Given the description of an element on the screen output the (x, y) to click on. 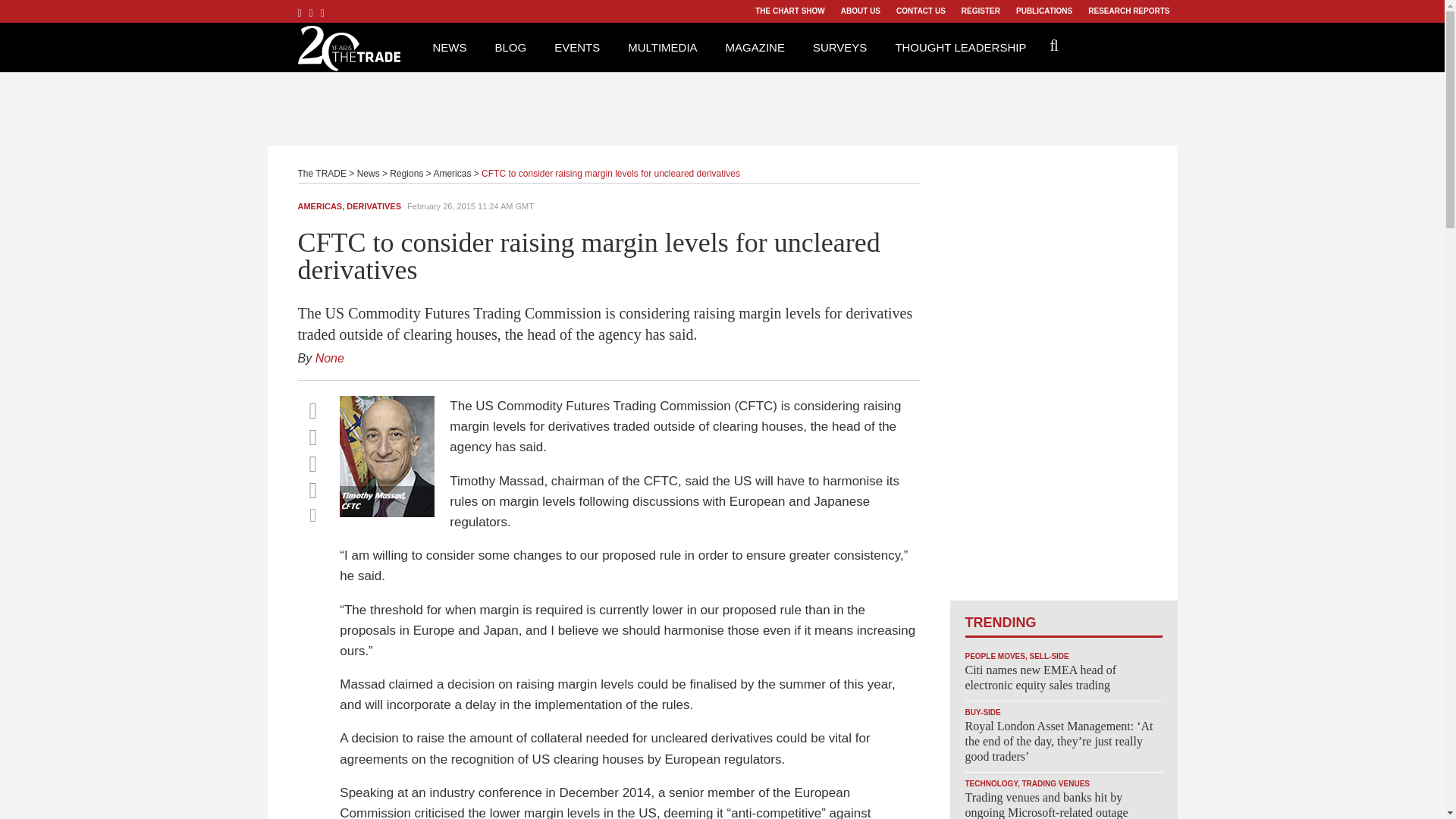
Go to The TRADE. (321, 173)
THE CHART SHOW (789, 11)
Go to the News Category archives. (368, 173)
3rd party ad content (1062, 372)
ShareREAL (390, 513)
3rd party ad content (721, 106)
Go to the Americas Category archives. (451, 173)
Print this article (311, 514)
PUBLICATIONS (1043, 11)
REGISTER (980, 11)
CONTACT US (920, 11)
Email this article (312, 489)
Go to the Regions Category archives. (406, 173)
ABOUT US (860, 11)
